Given the description of an element on the screen output the (x, y) to click on. 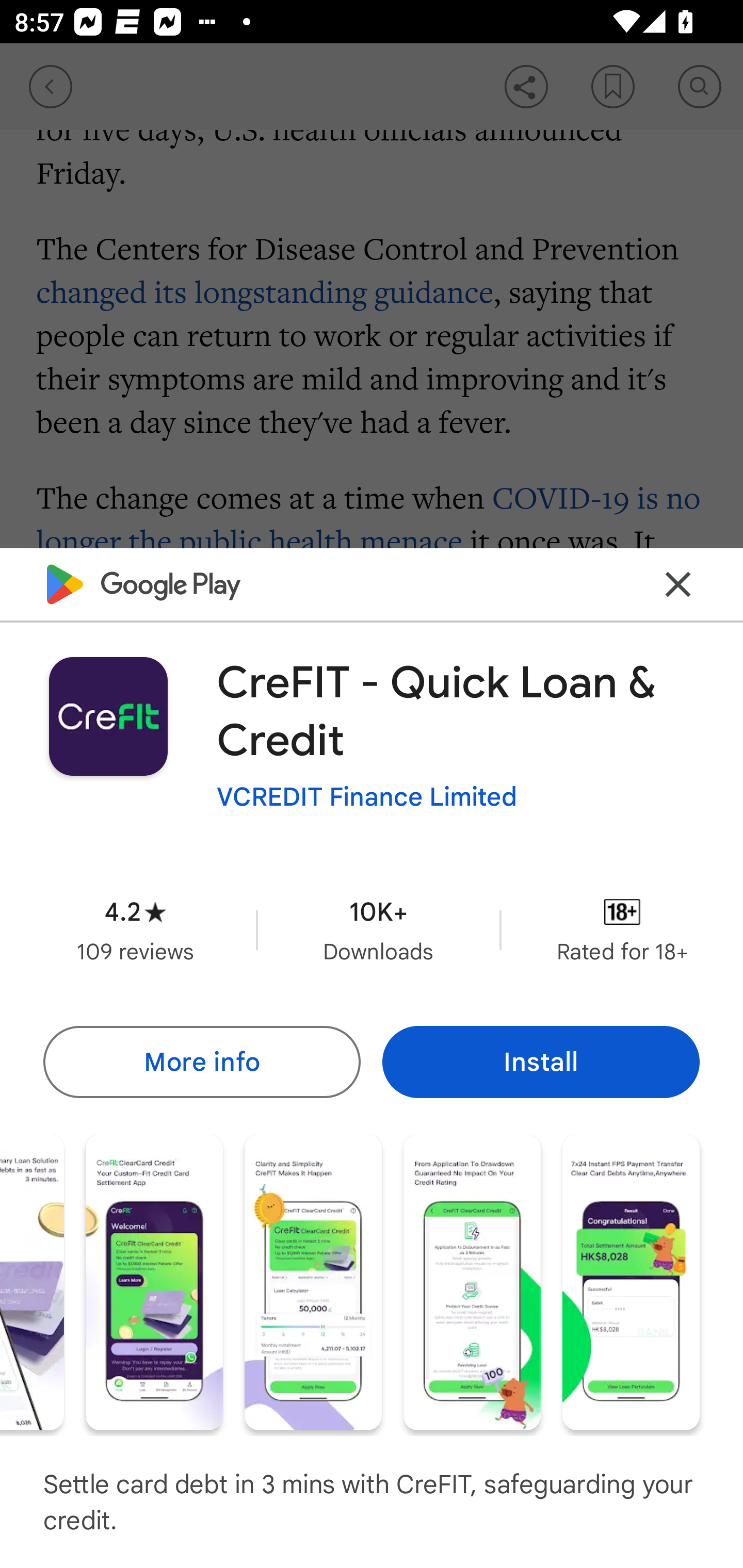
Close (677, 584)
VCREDIT Finance Limited (366, 796)
More info (201, 1061)
Install (540, 1061)
Screenshot "3" of "6" (153, 1281)
Screenshot "4" of "6" (312, 1281)
Screenshot "5" of "6" (471, 1281)
Screenshot "6" of "6" (630, 1281)
